Given the description of an element on the screen output the (x, y) to click on. 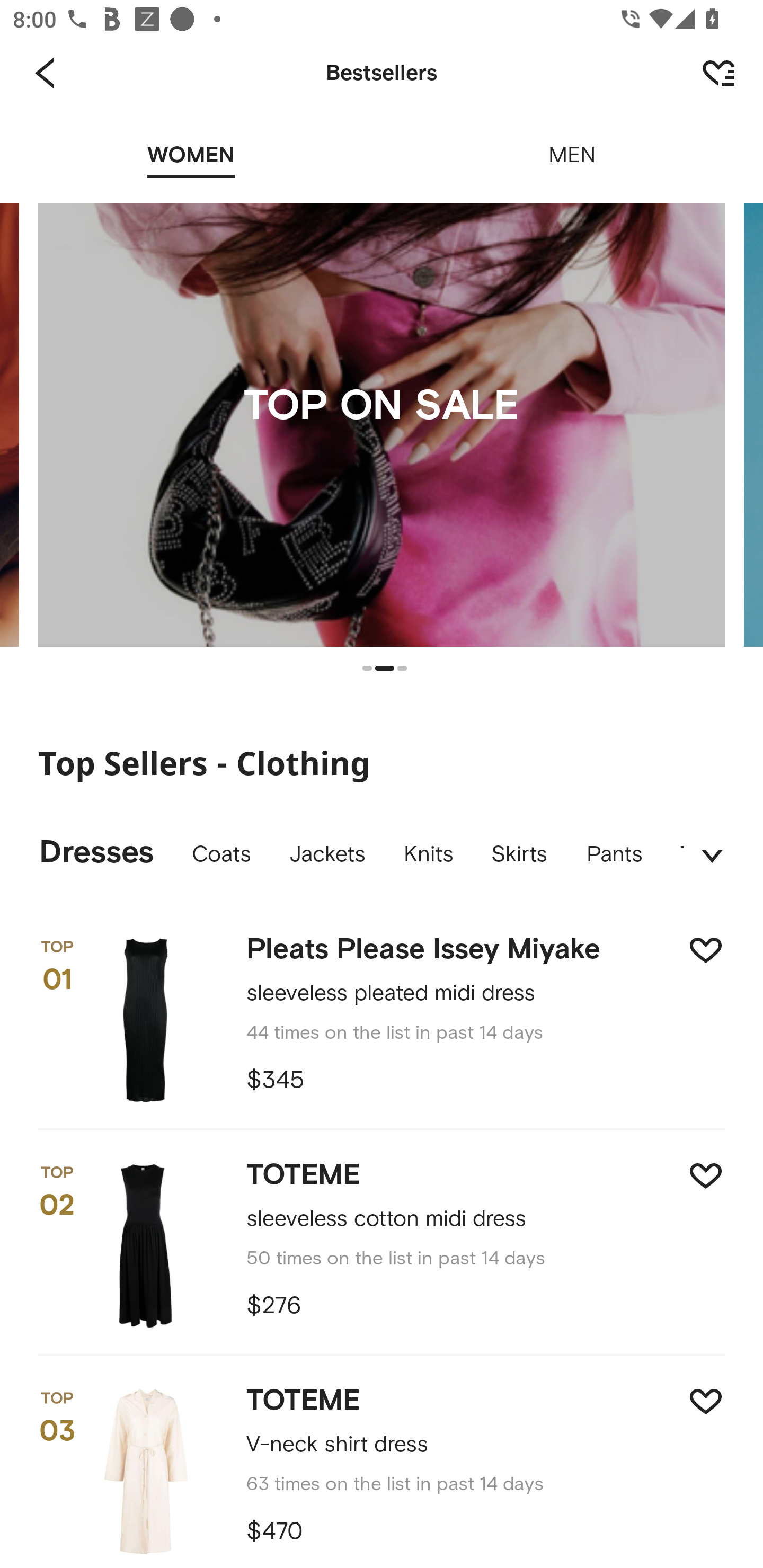
MEN (572, 143)
TOP ON SALE (381, 424)
Coats (220, 855)
Jackets (326, 855)
Knits (427, 855)
Skirts (519, 855)
Pants (613, 855)
